Given the description of an element on the screen output the (x, y) to click on. 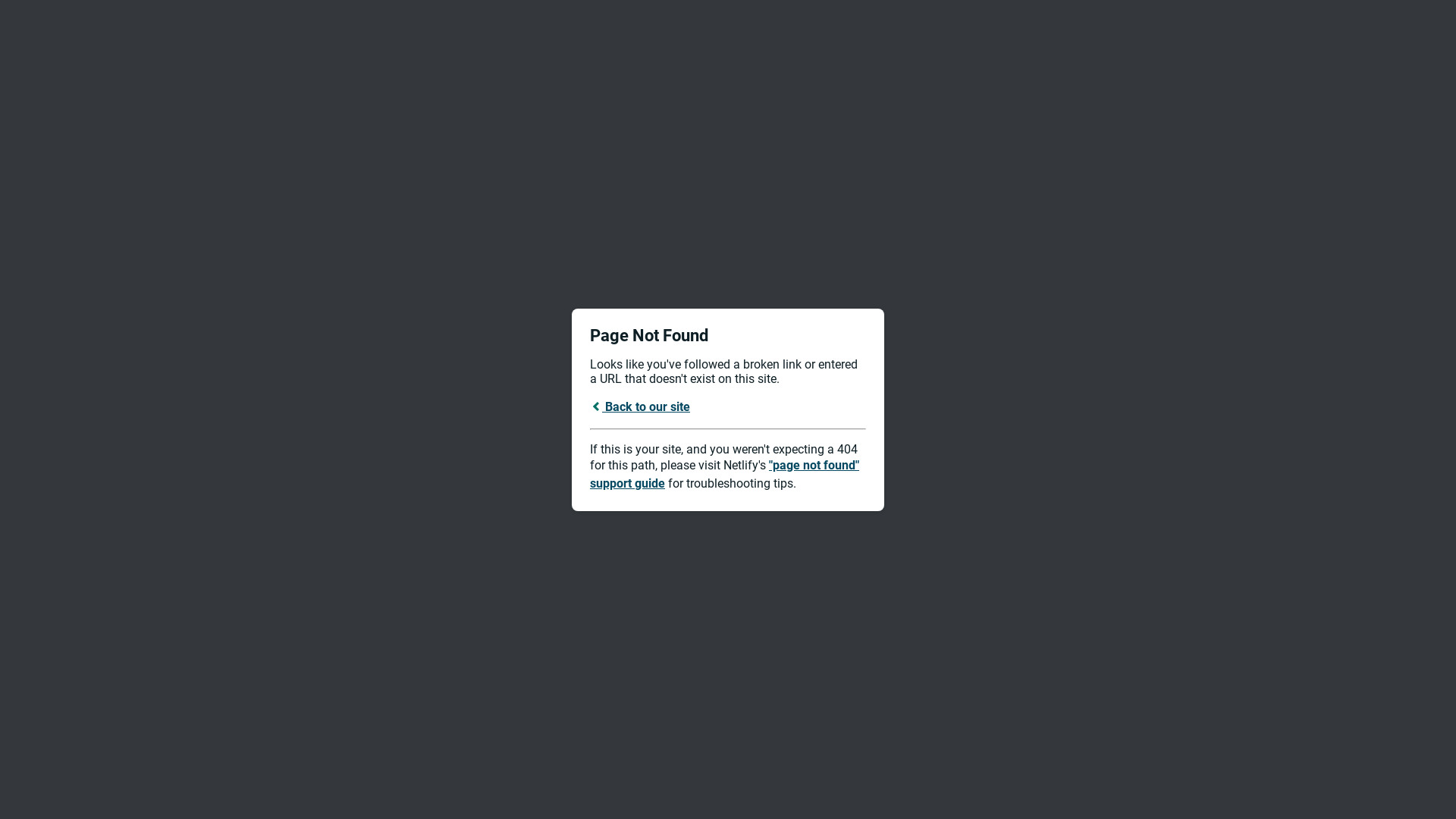
Back to our site Element type: text (639, 405)
"page not found" support guide Element type: text (724, 474)
